Given the description of an element on the screen output the (x, y) to click on. 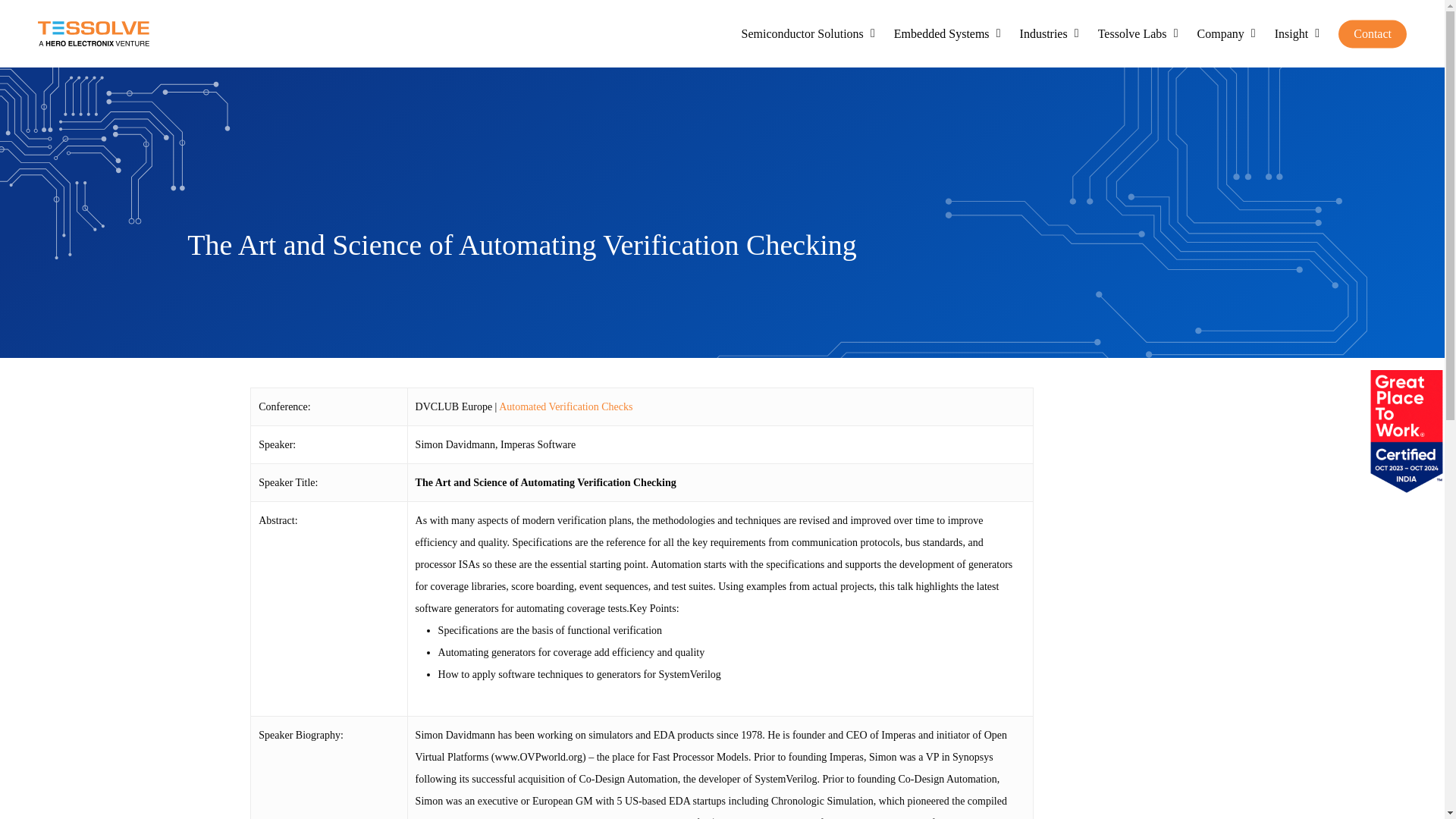
Semiconductor Solutions (810, 33)
Industries (1051, 33)
Embedded Systems (948, 33)
